Given the description of an element on the screen output the (x, y) to click on. 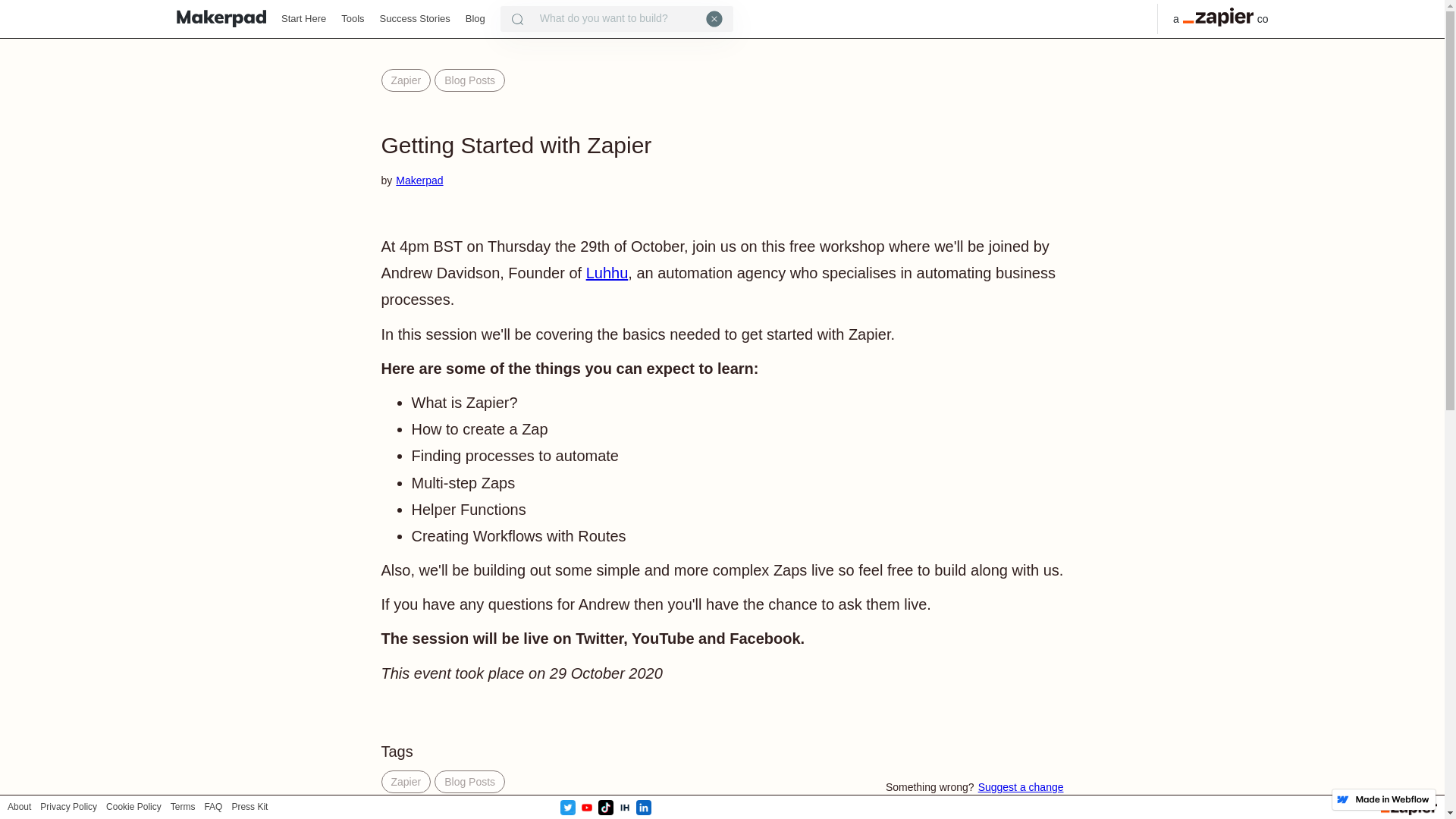
About (18, 806)
Blog Posts (469, 79)
Submit (28, 14)
Start Here (303, 19)
Success Stories (414, 19)
Zapier (405, 79)
Zapier (405, 781)
Suggest a change (1021, 787)
Makerpad (419, 180)
Blog Posts (469, 781)
Luhhu (607, 272)
